Given the description of an element on the screen output the (x, y) to click on. 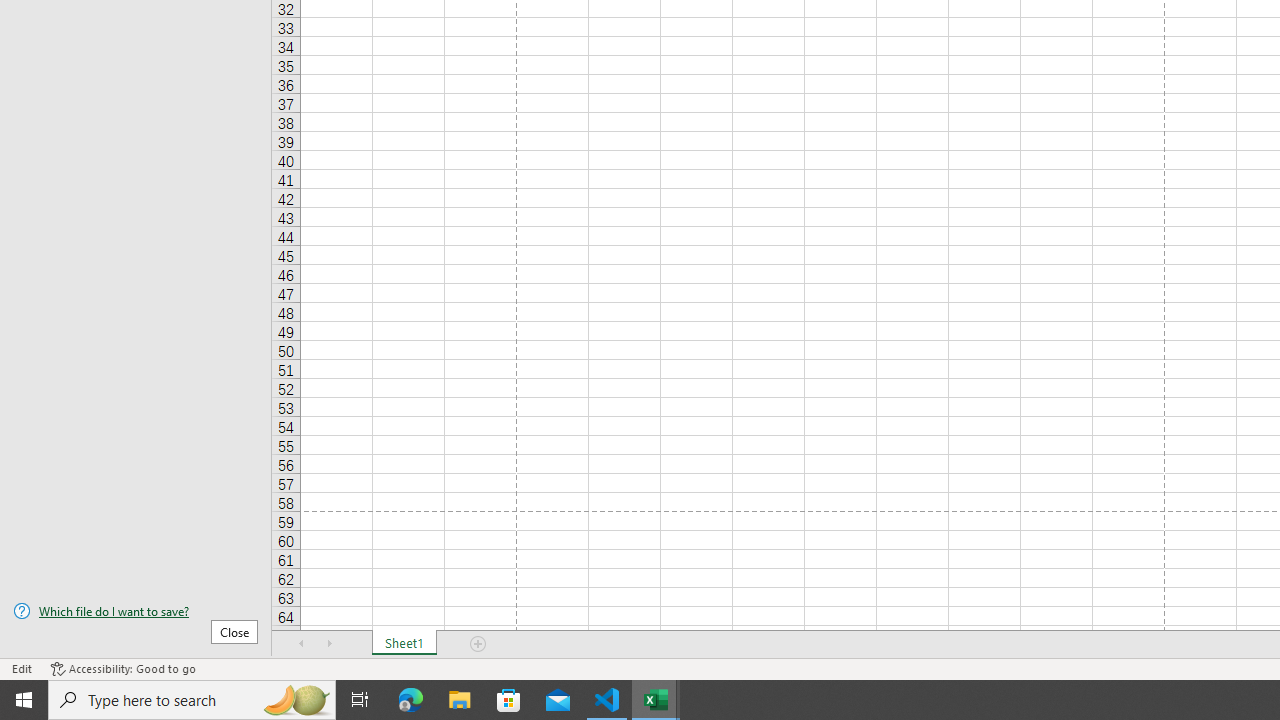
Microsoft Edge (411, 699)
